Given the description of an element on the screen output the (x, y) to click on. 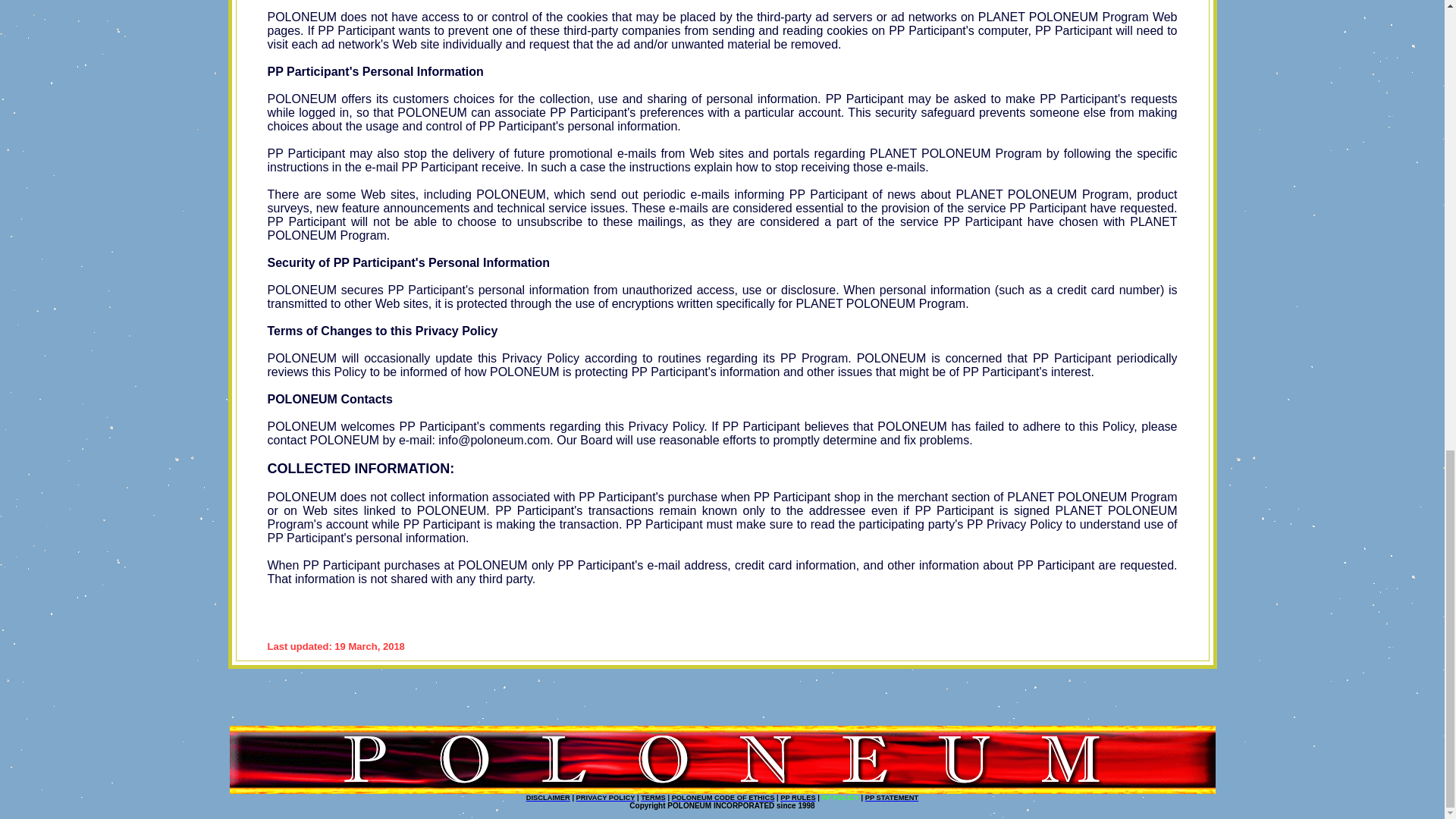
PP STATEMENT (891, 797)
POLONEUM CODE OF ETHICS (722, 797)
DISCLAIMER (547, 797)
PRIVACY POLICY (605, 797)
PP RULES (797, 797)
TERMS (652, 797)
